Given the description of an element on the screen output the (x, y) to click on. 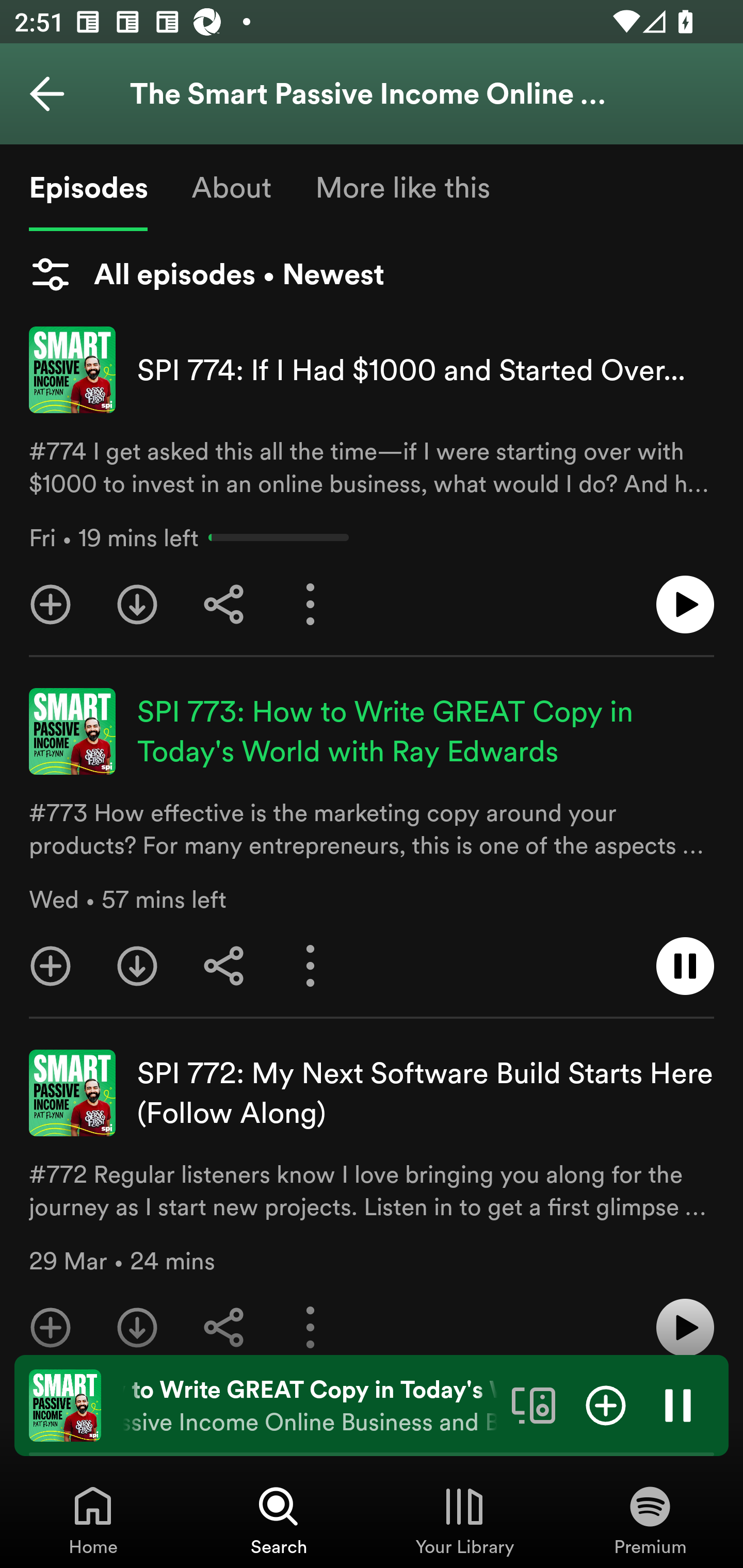
Back (46, 93)
About (231, 187)
More like this (402, 187)
All episodes • Newest (206, 274)
Share (223, 604)
Share (223, 965)
Share (223, 1319)
The cover art of the currently playing track (64, 1404)
Connect to a device. Opens the devices menu (533, 1404)
Add item (605, 1404)
Pause (677, 1404)
Home, Tab 1 of 4 Home Home (92, 1519)
Search, Tab 2 of 4 Search Search (278, 1519)
Your Library, Tab 3 of 4 Your Library Your Library (464, 1519)
Premium, Tab 4 of 4 Premium Premium (650, 1519)
